Given the description of an element on the screen output the (x, y) to click on. 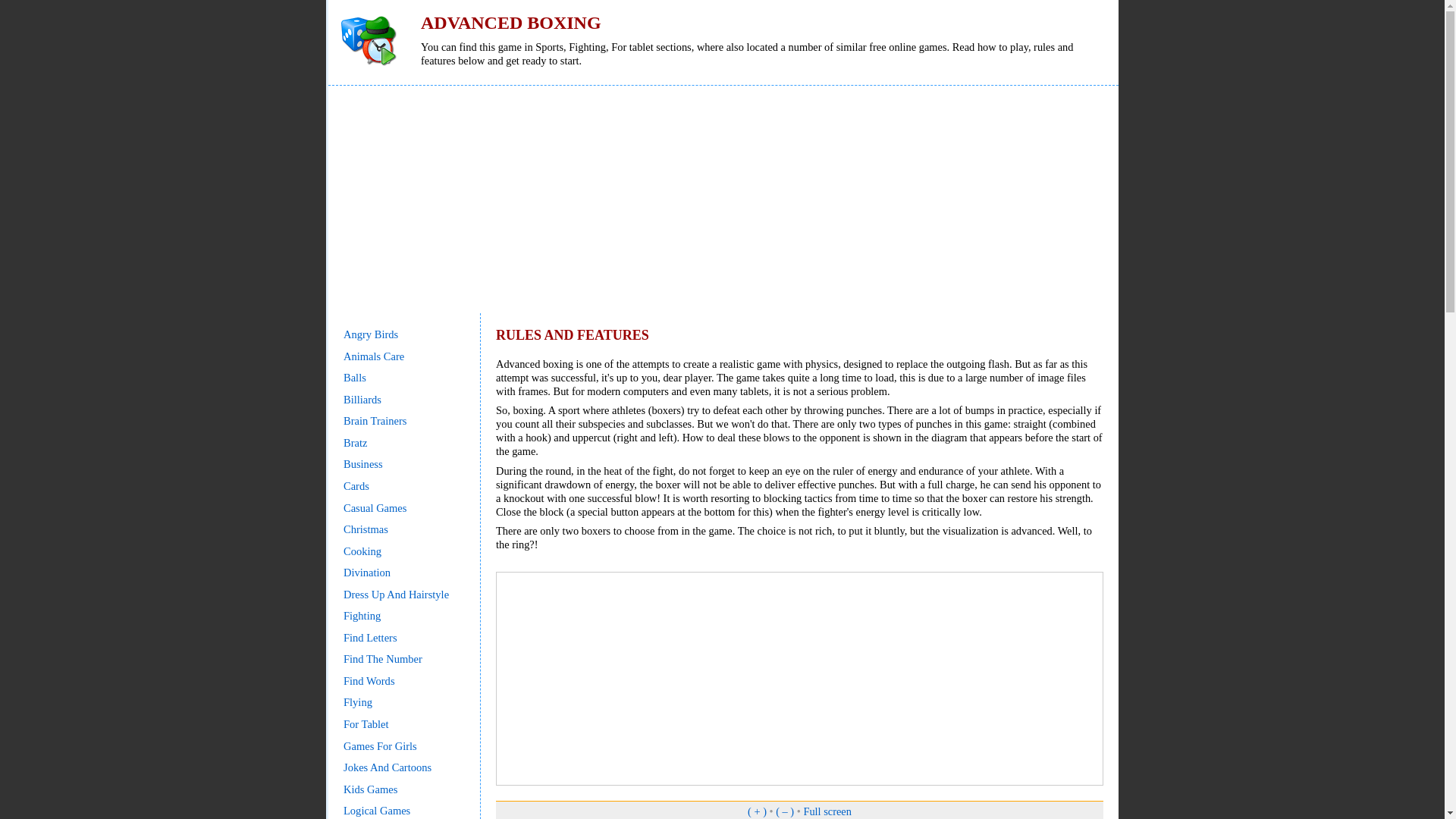
Full screen (827, 811)
Bratz (354, 442)
Casual Games (374, 508)
Business (362, 463)
Full screen mode (827, 811)
Angry Birds (370, 334)
Cards (356, 485)
Increase size (757, 811)
Christmas (365, 529)
Billiards (362, 399)
Advertisement (799, 678)
Balls (354, 377)
Animals Care (373, 356)
Decrease size (784, 811)
